Given the description of an element on the screen output the (x, y) to click on. 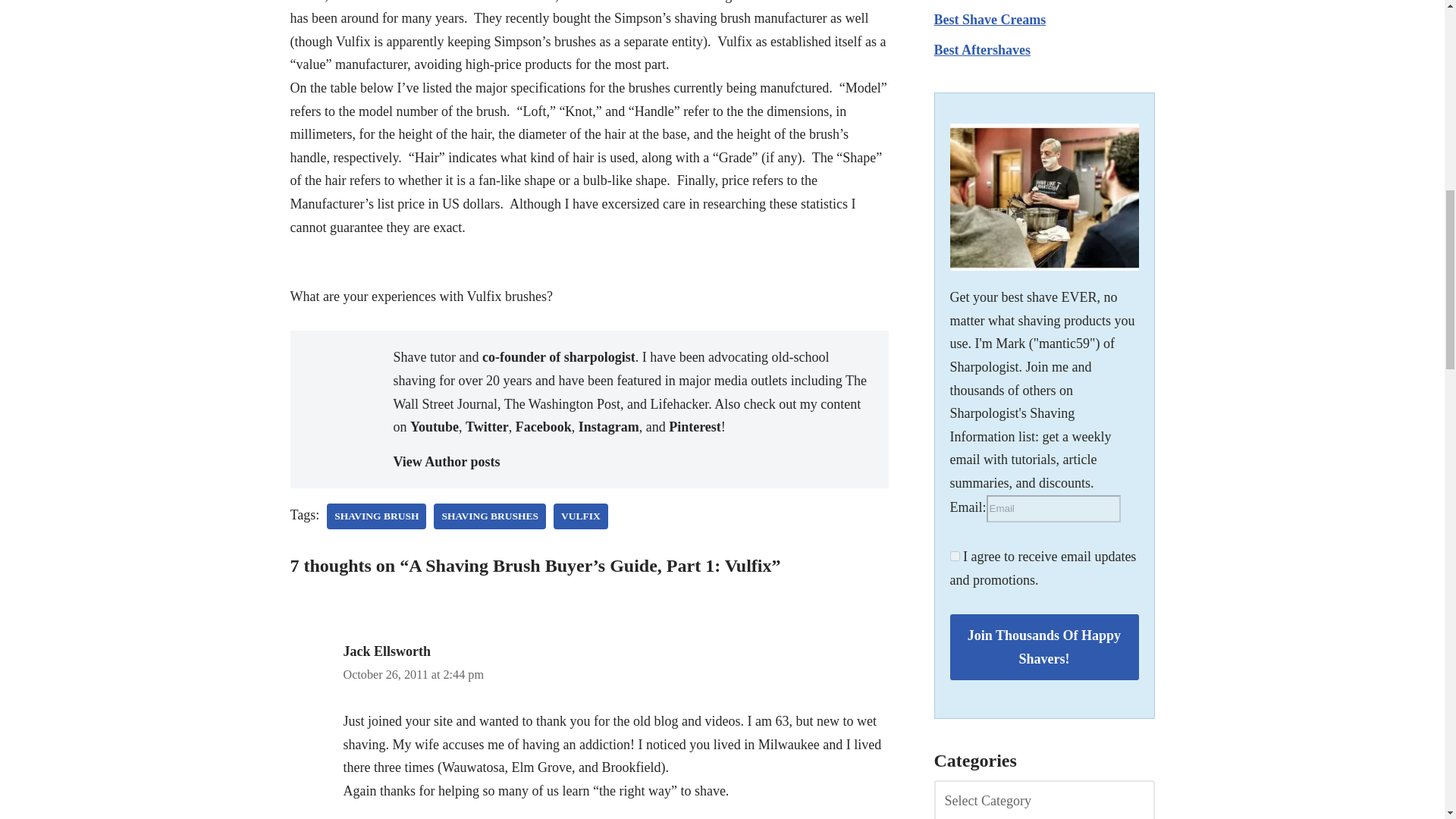
shaving brush (376, 516)
shaving brushes (489, 516)
1 (954, 556)
SHAVING BRUSHES (489, 516)
co-founder of sharpologist (557, 356)
Youtube (434, 426)
Pinterest (694, 426)
vulfix (580, 516)
October 26, 2011 at 2:44 pm (412, 674)
SHAVING BRUSH (376, 516)
View Author posts (632, 462)
Instagram (608, 426)
VULFIX (580, 516)
Twitter (486, 426)
Facebook (543, 426)
